Given the description of an element on the screen output the (x, y) to click on. 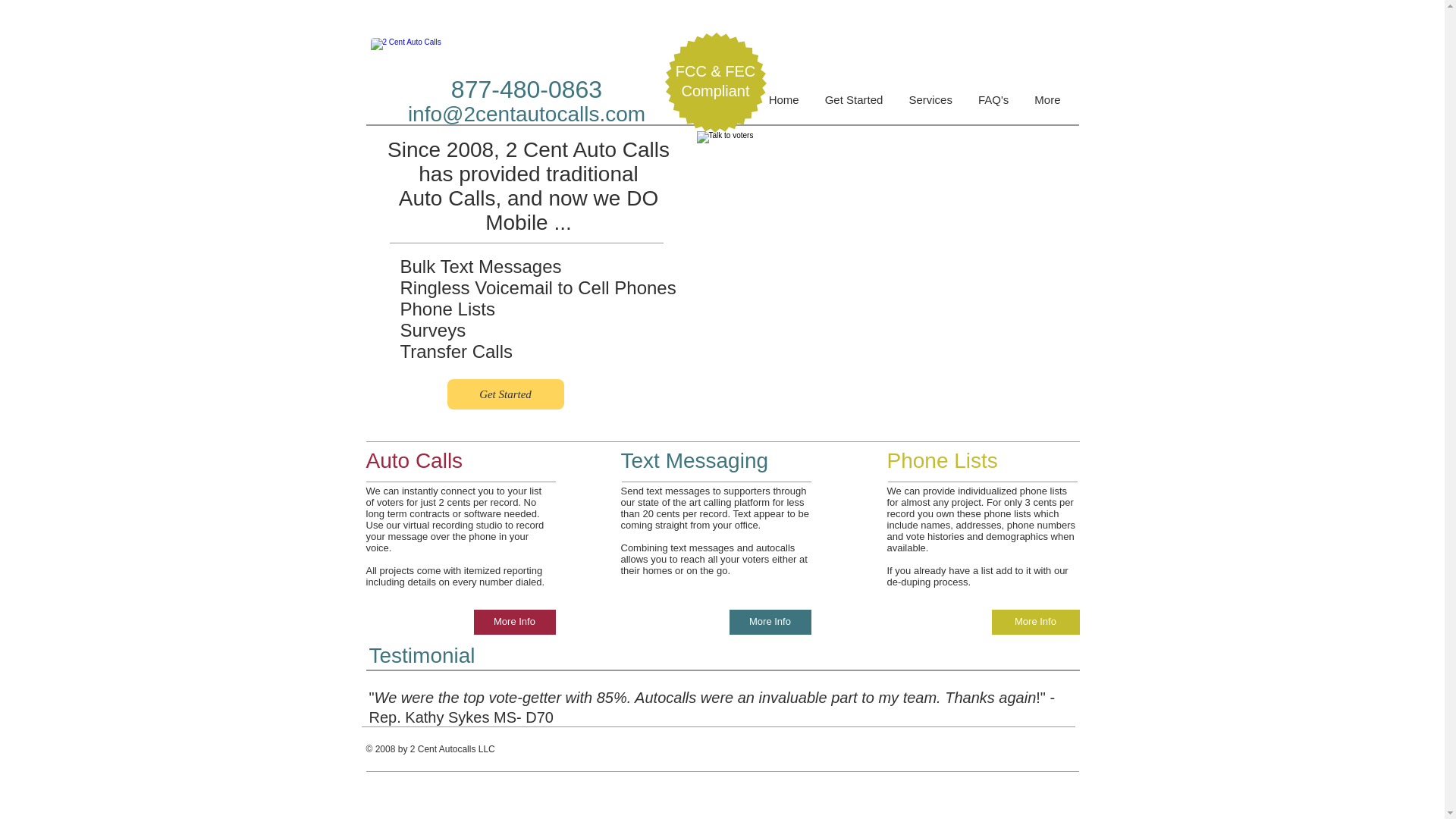
Get Started Element type: text (854, 109)
More Info Element type: text (770, 621)
Services Element type: text (930, 109)
Get Started Element type: text (505, 394)
Home Element type: text (784, 109)
More Info Element type: text (1035, 621)
More Info Element type: text (514, 621)
info@2centautocalls.com Element type: text (526, 113)
FAQ's Element type: text (993, 109)
